Given the description of an element on the screen output the (x, y) to click on. 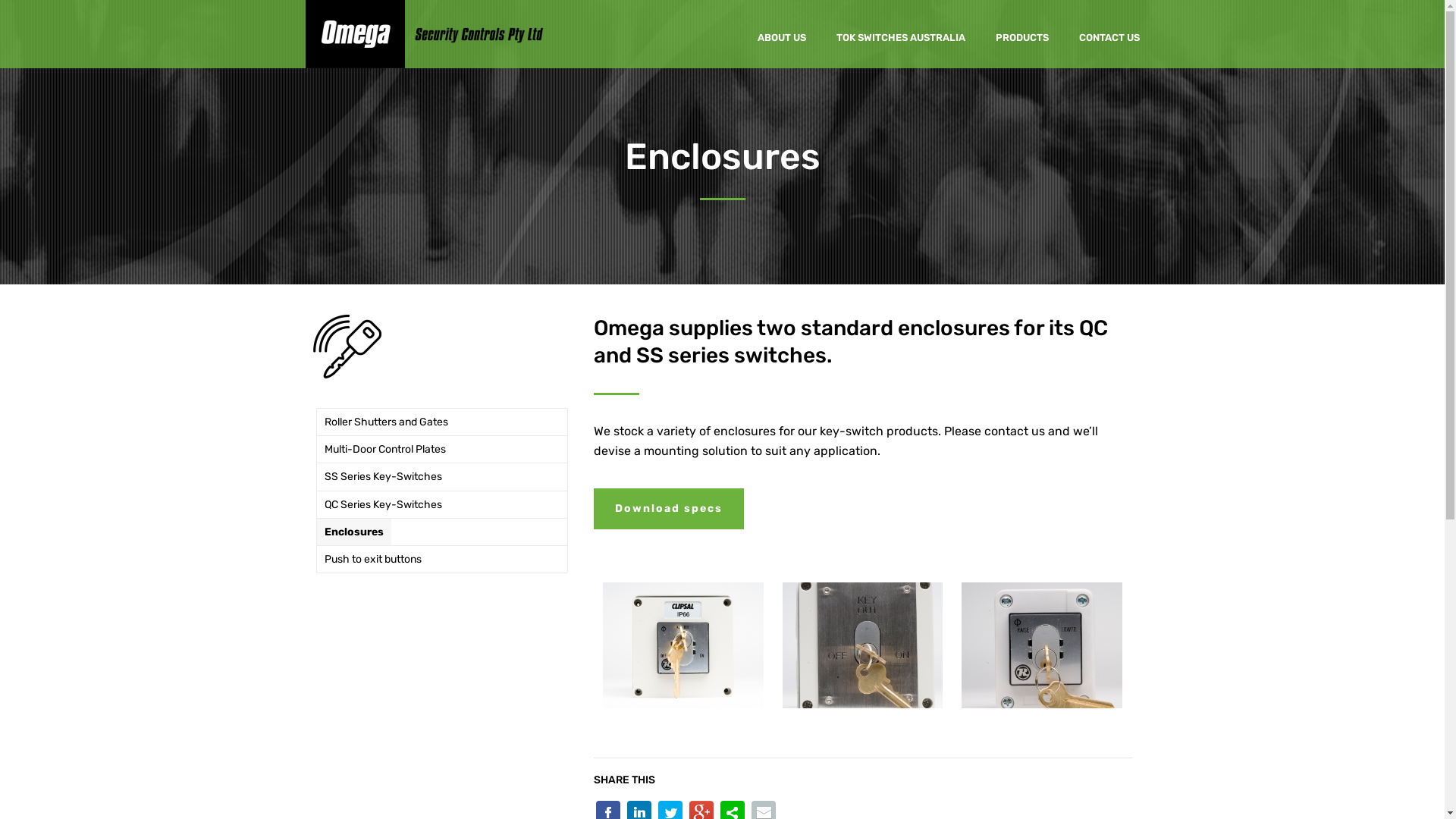
Multi-Door Control Plates Element type: text (384, 449)
enclosures_2 Element type: hover (682, 645)
QC Series Key-Switches Element type: text (382, 504)
Products Element type: hover (346, 346)
ABOUT US Element type: text (780, 34)
enclosures_4 Element type: hover (1041, 645)
Roller Shutters and Gates Element type: text (385, 421)
Push to exit buttons Element type: text (372, 559)
enclosures_3 Element type: hover (862, 645)
Download specs Element type: text (668, 508)
SS Series Key-Switches Element type: text (382, 476)
TOK SWITCHES AUSTRALIA Element type: text (899, 34)
PRODUCTS Element type: text (1021, 34)
Enclosures Element type: text (353, 531)
CONTACT US Element type: text (1108, 34)
